Given the description of an element on the screen output the (x, y) to click on. 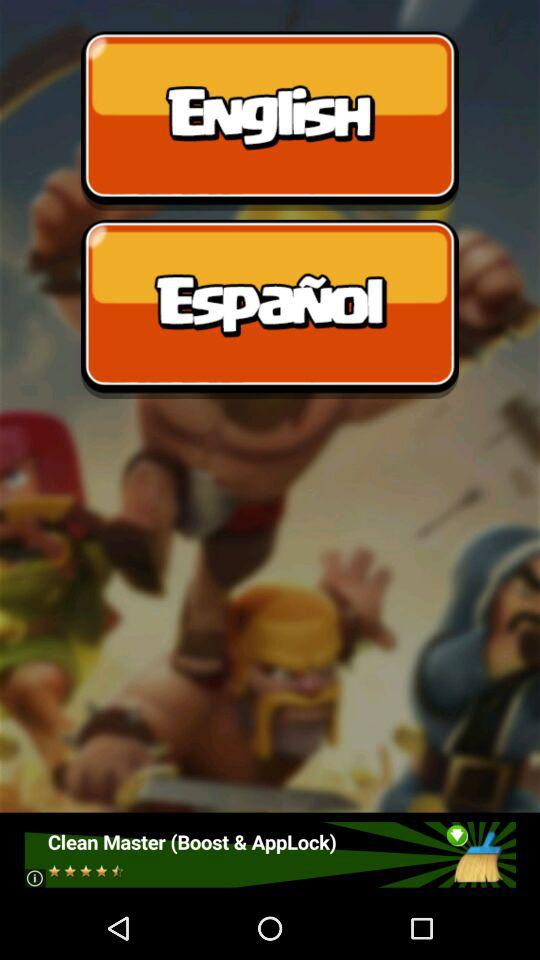
open advertisement (269, 854)
